Given the description of an element on the screen output the (x, y) to click on. 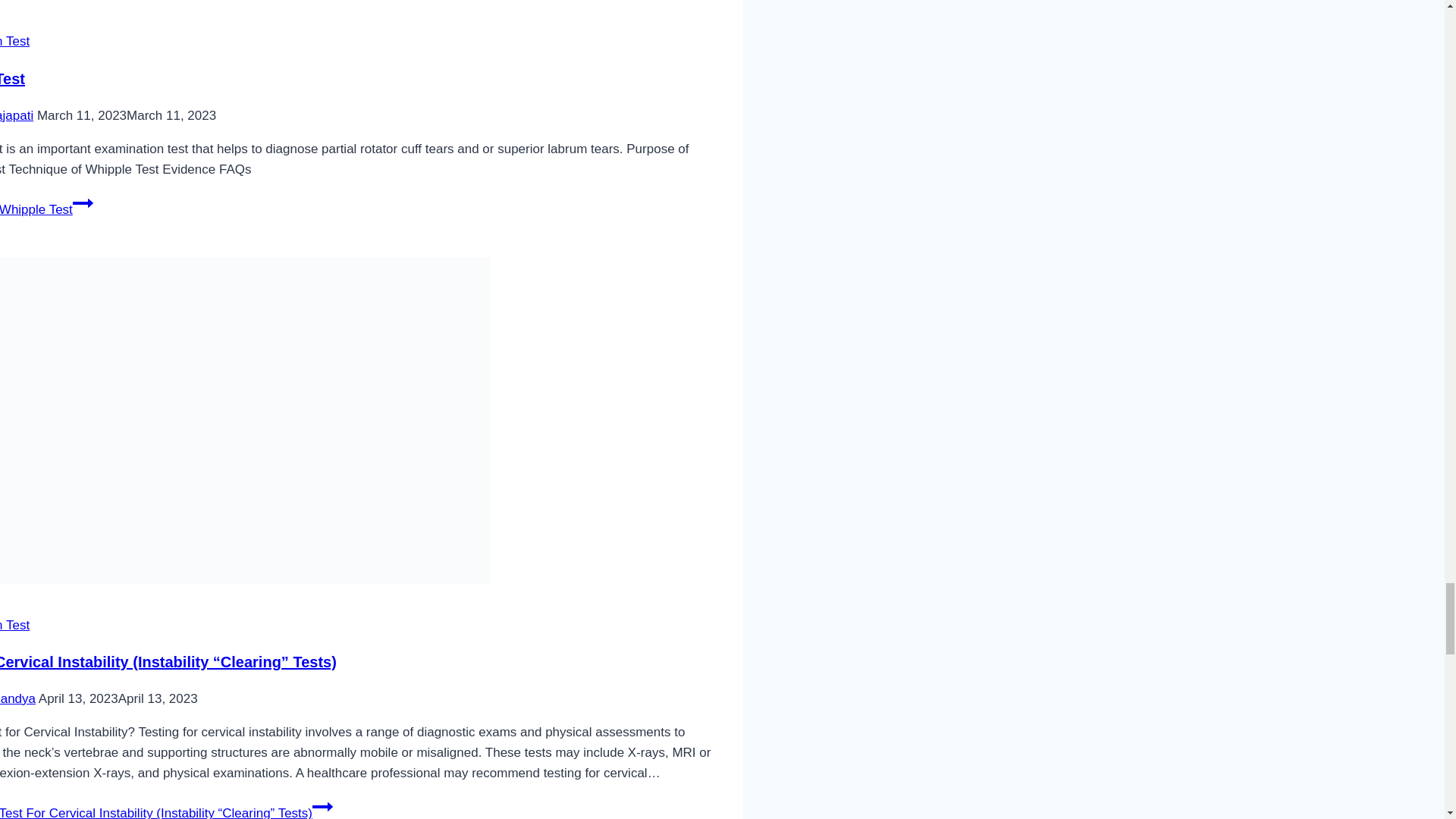
Continue (82, 202)
Continue (323, 806)
